Given the description of an element on the screen output the (x, y) to click on. 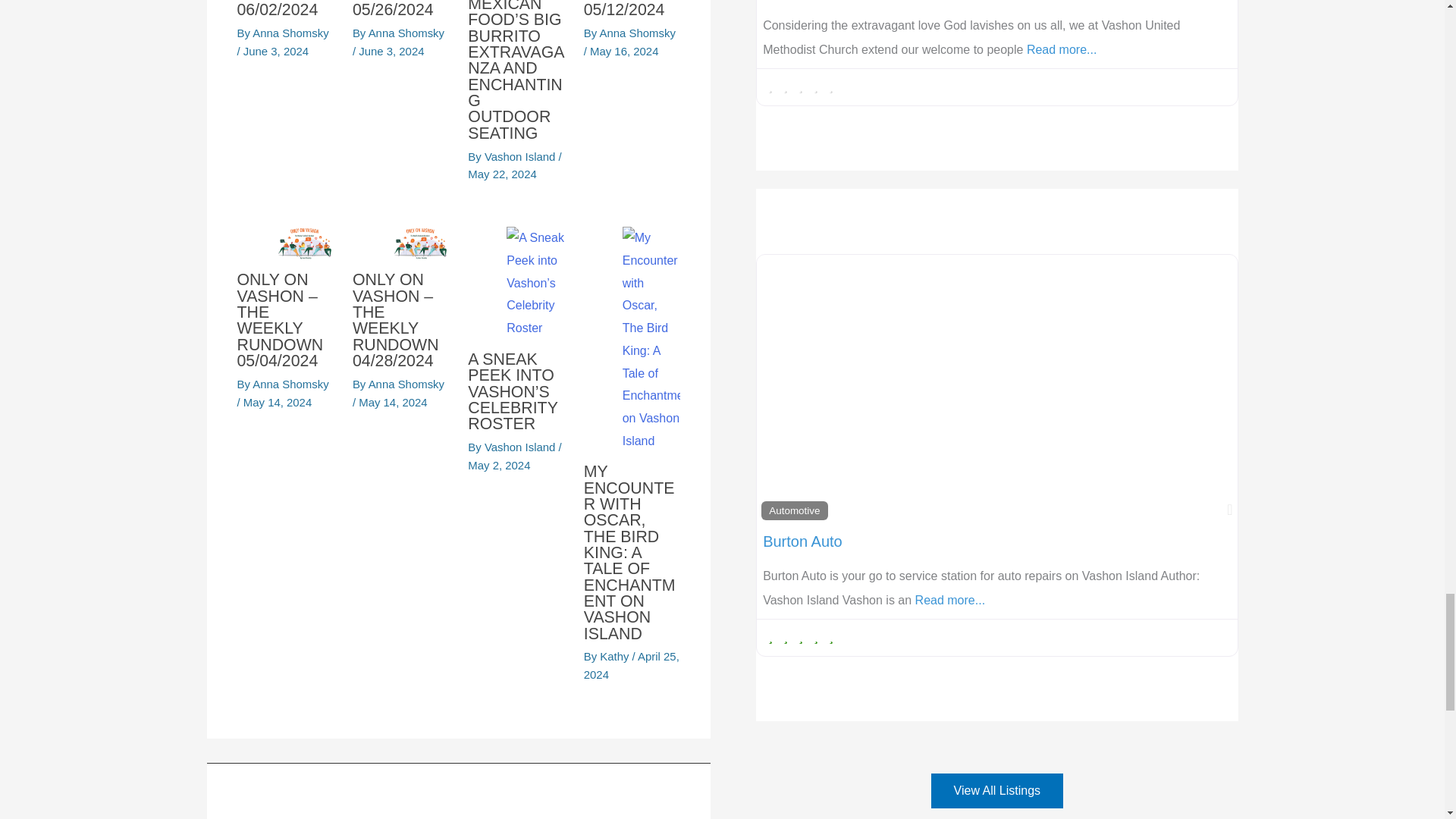
View all posts by Anna Shomsky (406, 383)
View all posts by Vashon Island (521, 155)
View all posts by Vashon Island (521, 446)
View all posts by Anna Shomsky (290, 383)
View all posts by Anna Shomsky (406, 32)
View all posts by Anna Shomsky (636, 32)
View all posts by Anna Shomsky (290, 32)
